Given the description of an element on the screen output the (x, y) to click on. 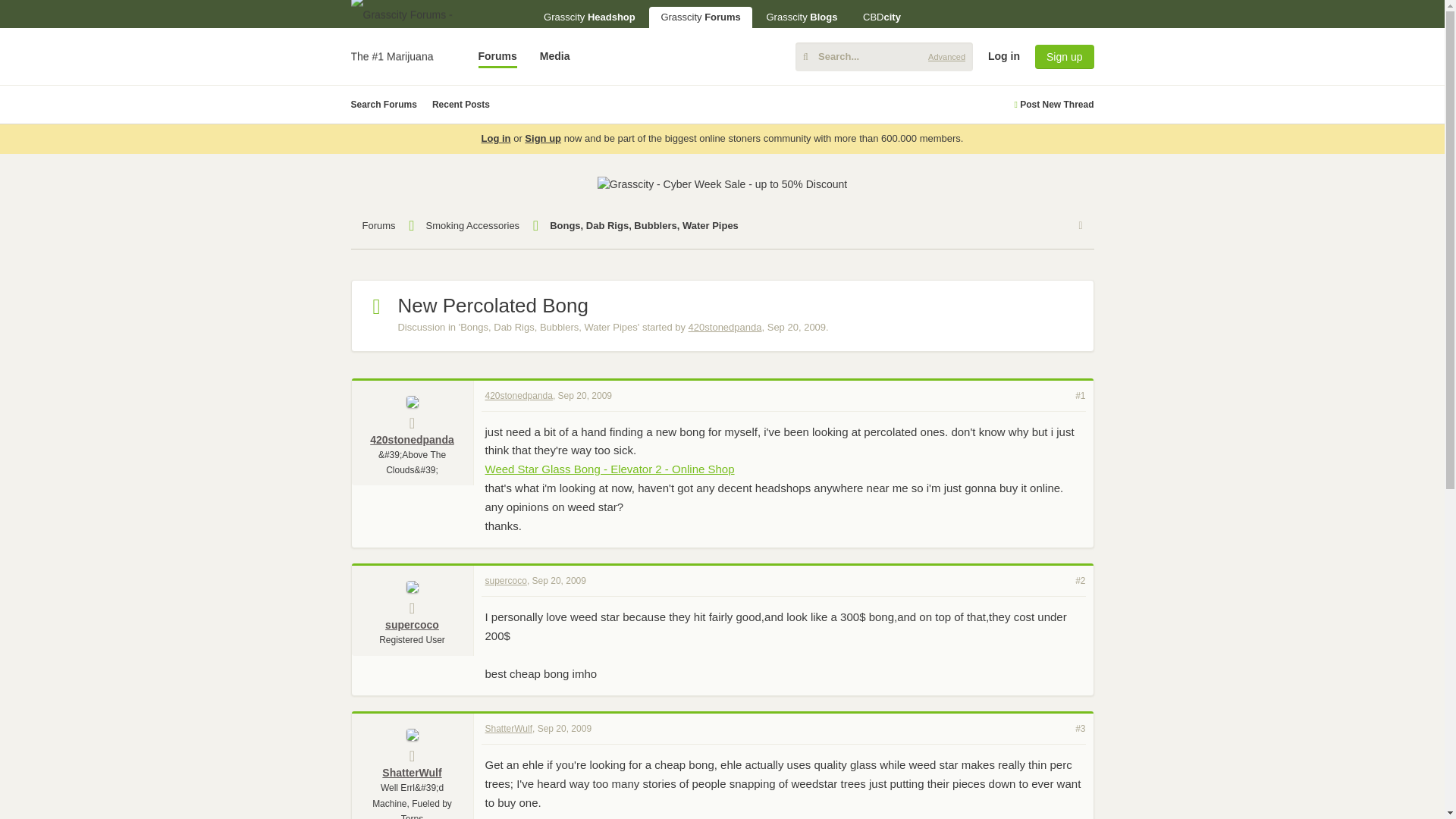
Sign up (1064, 56)
Post New Thread (1053, 104)
Grasscity Forums (700, 16)
Grasscity Headshop (589, 16)
Media (554, 56)
Search Forums (383, 104)
Recent Posts (460, 104)
Forums (497, 56)
Permalink (584, 394)
Grasscity Blogs (801, 16)
